Given the description of an element on the screen output the (x, y) to click on. 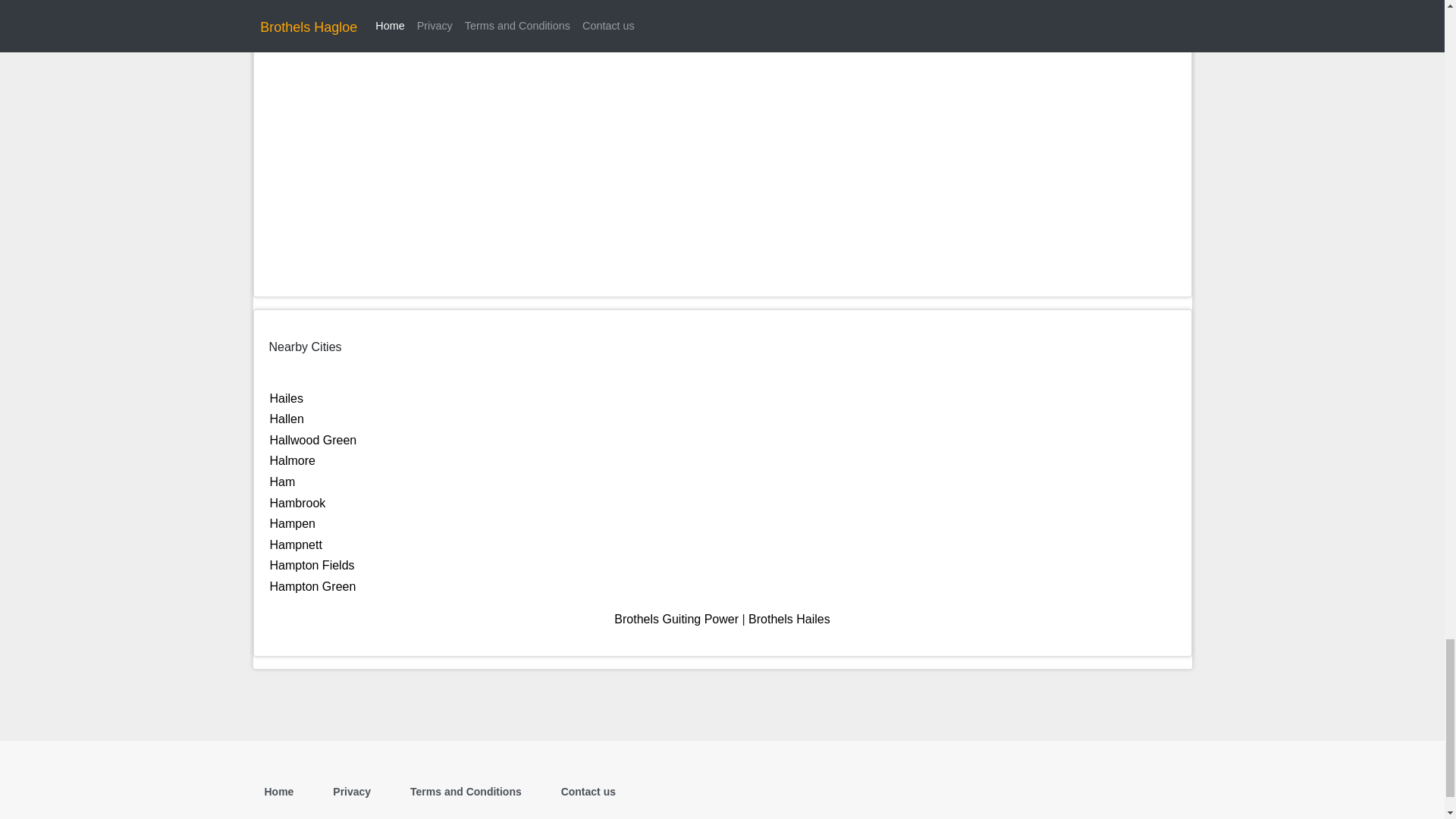
Hallwood Green (312, 440)
Ham (282, 481)
Hampton Green (312, 585)
Brothels Hailes (788, 618)
Hambrook (297, 502)
Brothels Guiting Power (676, 618)
Hampen (292, 522)
Halmore (292, 460)
Hallen (286, 418)
Hampton Fields (312, 564)
Hampnett (295, 544)
Hailes (285, 398)
